Given the description of an element on the screen output the (x, y) to click on. 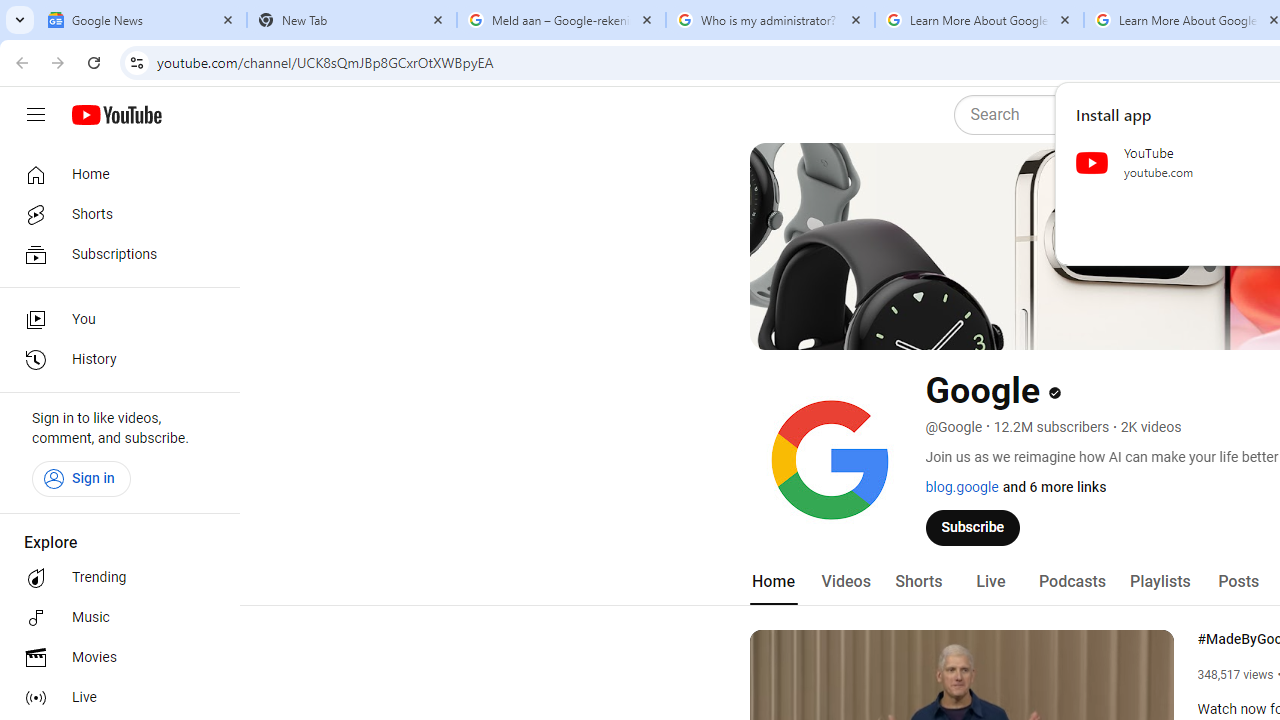
Podcasts (1072, 581)
Movies (113, 657)
Live (990, 581)
Live (113, 697)
and 6 more links (1054, 487)
Shorts (918, 581)
Videos (845, 581)
Playlists (1160, 581)
Who is my administrator? - Google Account Help (770, 20)
Google News (142, 20)
